Given the description of an element on the screen output the (x, y) to click on. 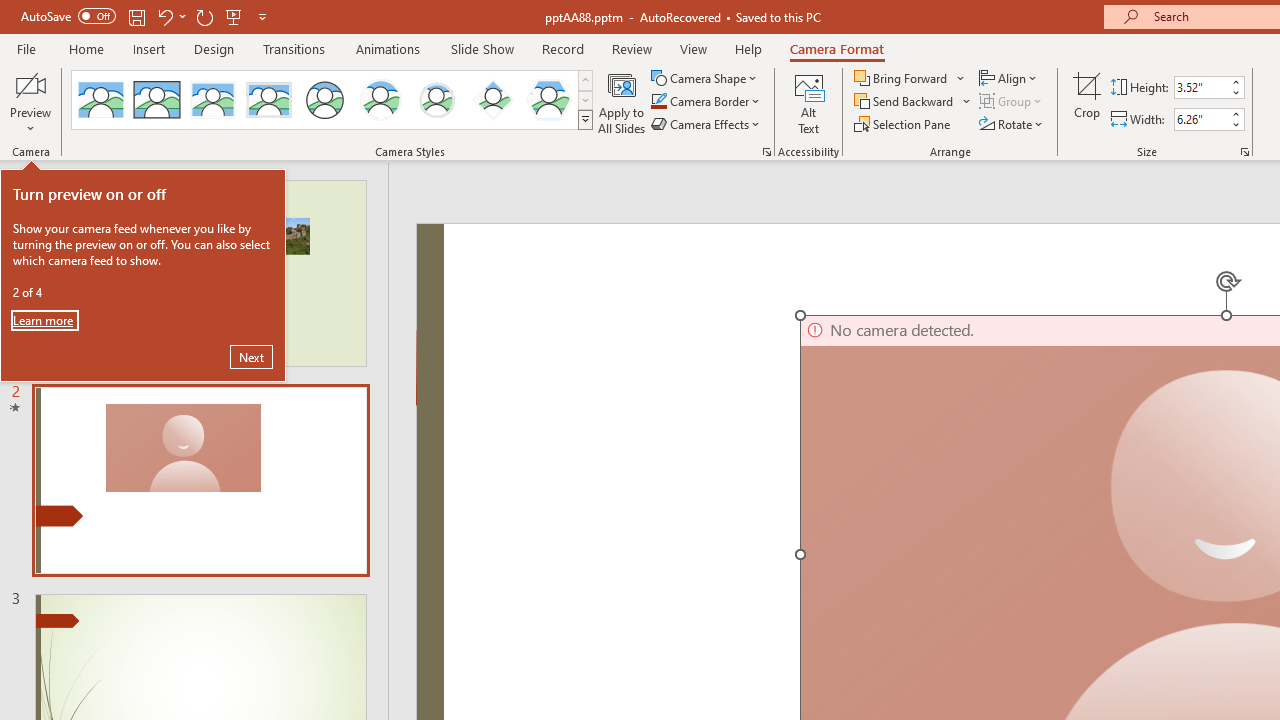
Camera Effects (706, 124)
Soft Edge Circle (436, 100)
Bring Forward (910, 78)
Group (1012, 101)
Camera Border Teal, Accent 1 (658, 101)
Apply to All Slides (621, 102)
No Style (100, 100)
